Given the description of an element on the screen output the (x, y) to click on. 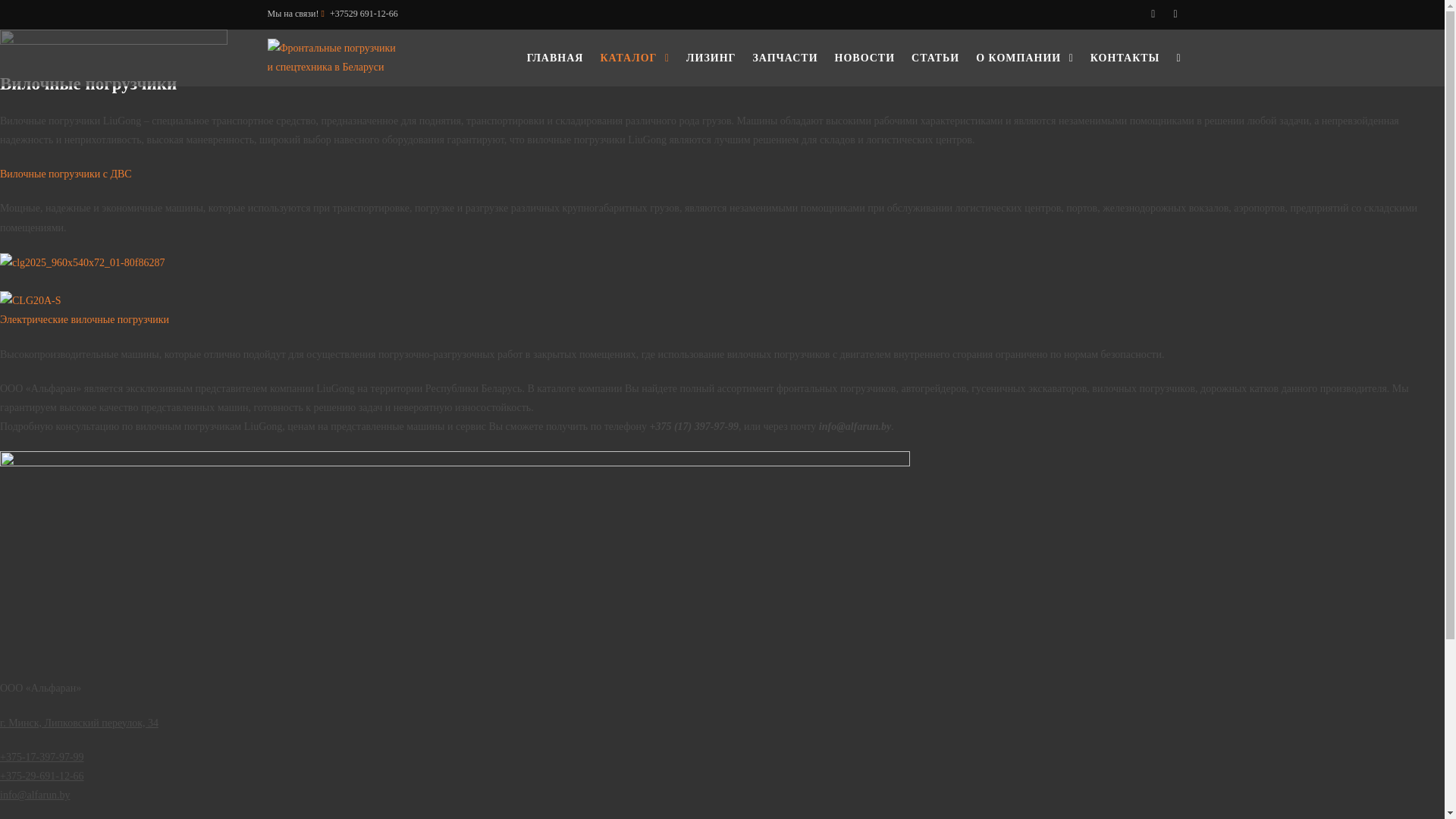
+37529 691-12-66 Element type: text (363, 13)
clg2025_960x540x72_01-80f86287 Element type: hover (82, 262)
CLG20A-S Element type: hover (30, 300)
